Given the description of an element on the screen output the (x, y) to click on. 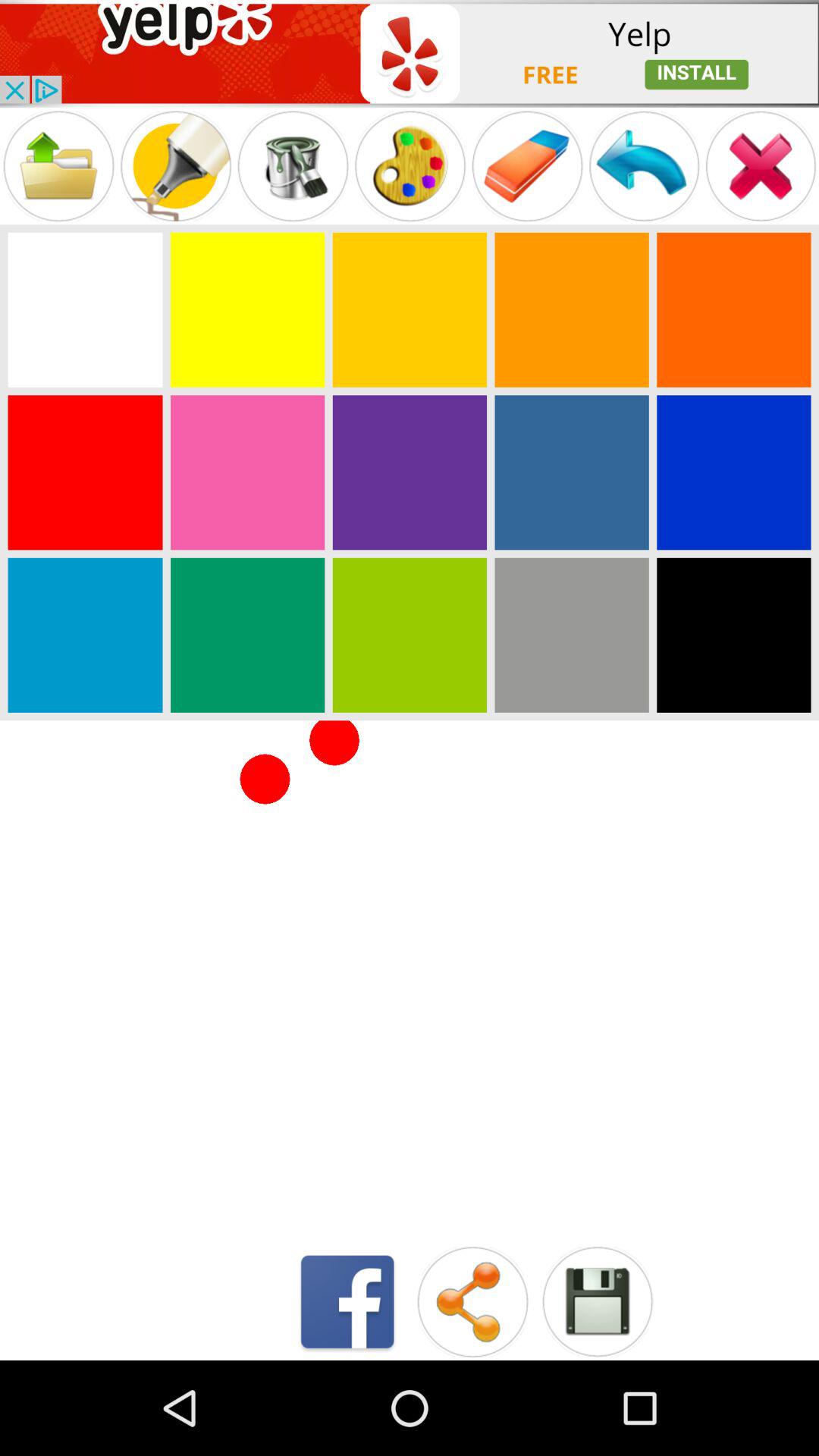
clours icon (409, 472)
